Given the description of an element on the screen output the (x, y) to click on. 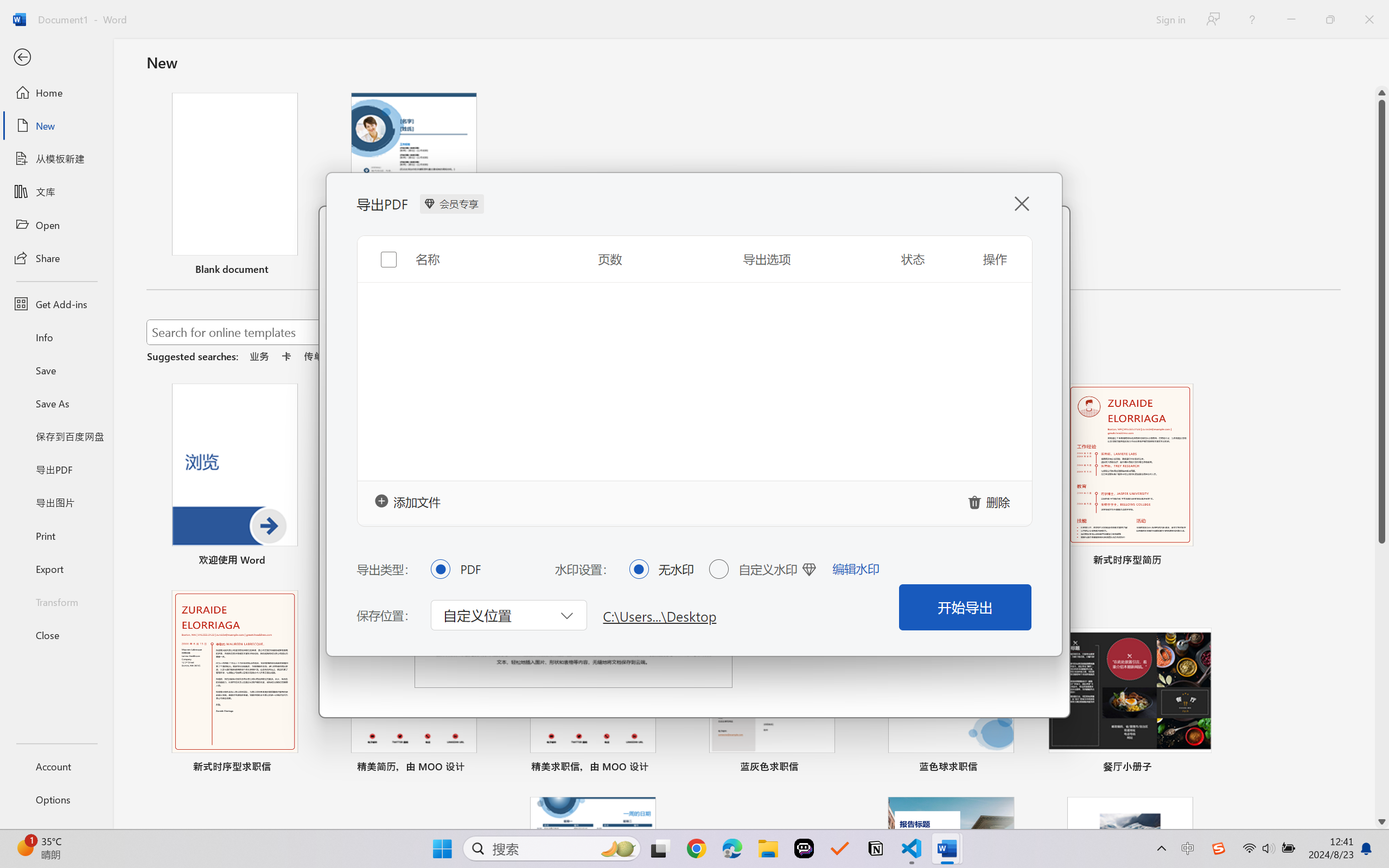
Transform (56, 601)
clearAllFile (990, 501)
